Given the description of an element on the screen output the (x, y) to click on. 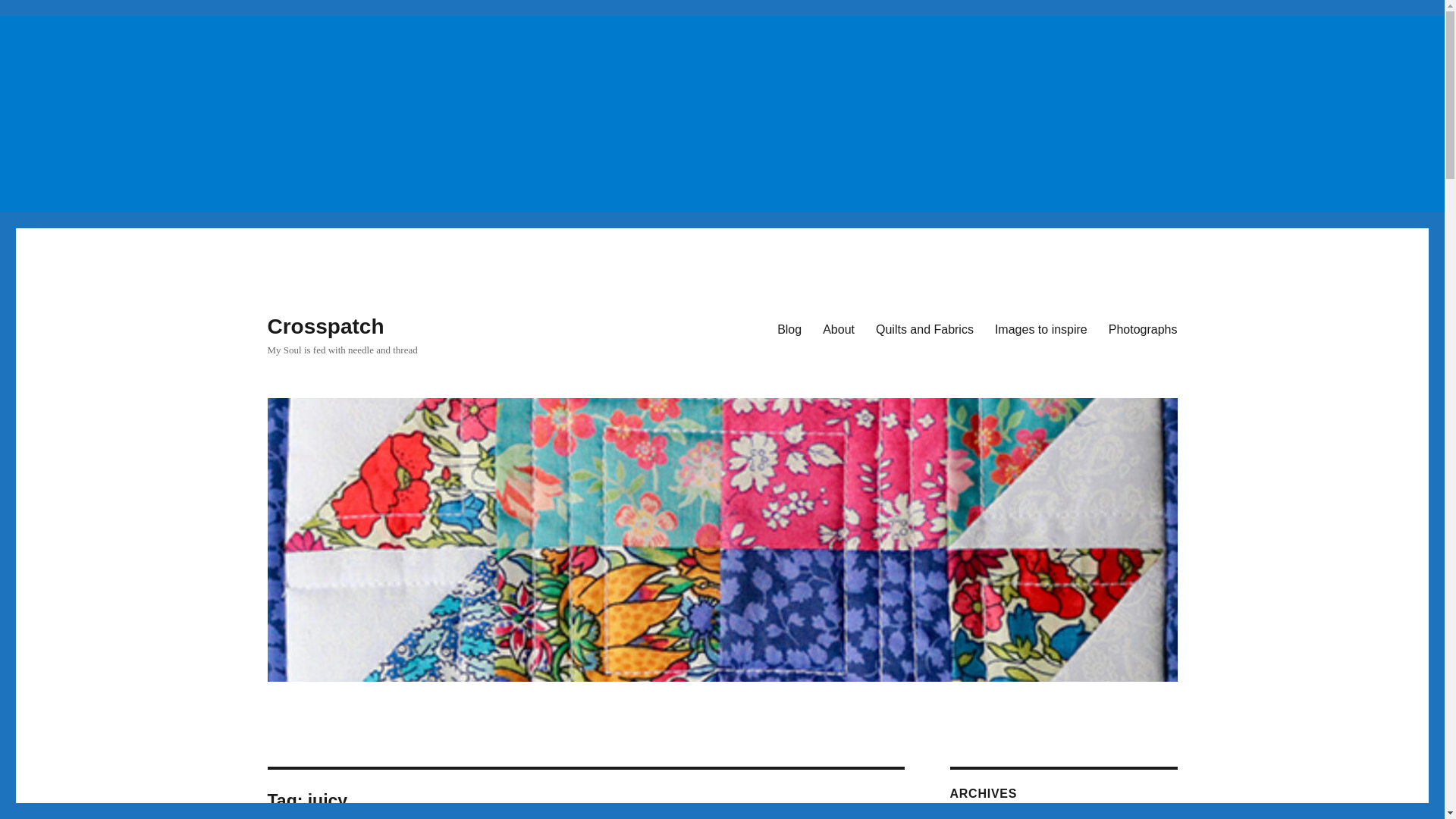
About (838, 328)
Photographs (1142, 328)
Crosspatch (325, 326)
Blog (789, 328)
Quilts and Fabrics (924, 328)
Images to inspire (1040, 328)
